Given the description of an element on the screen output the (x, y) to click on. 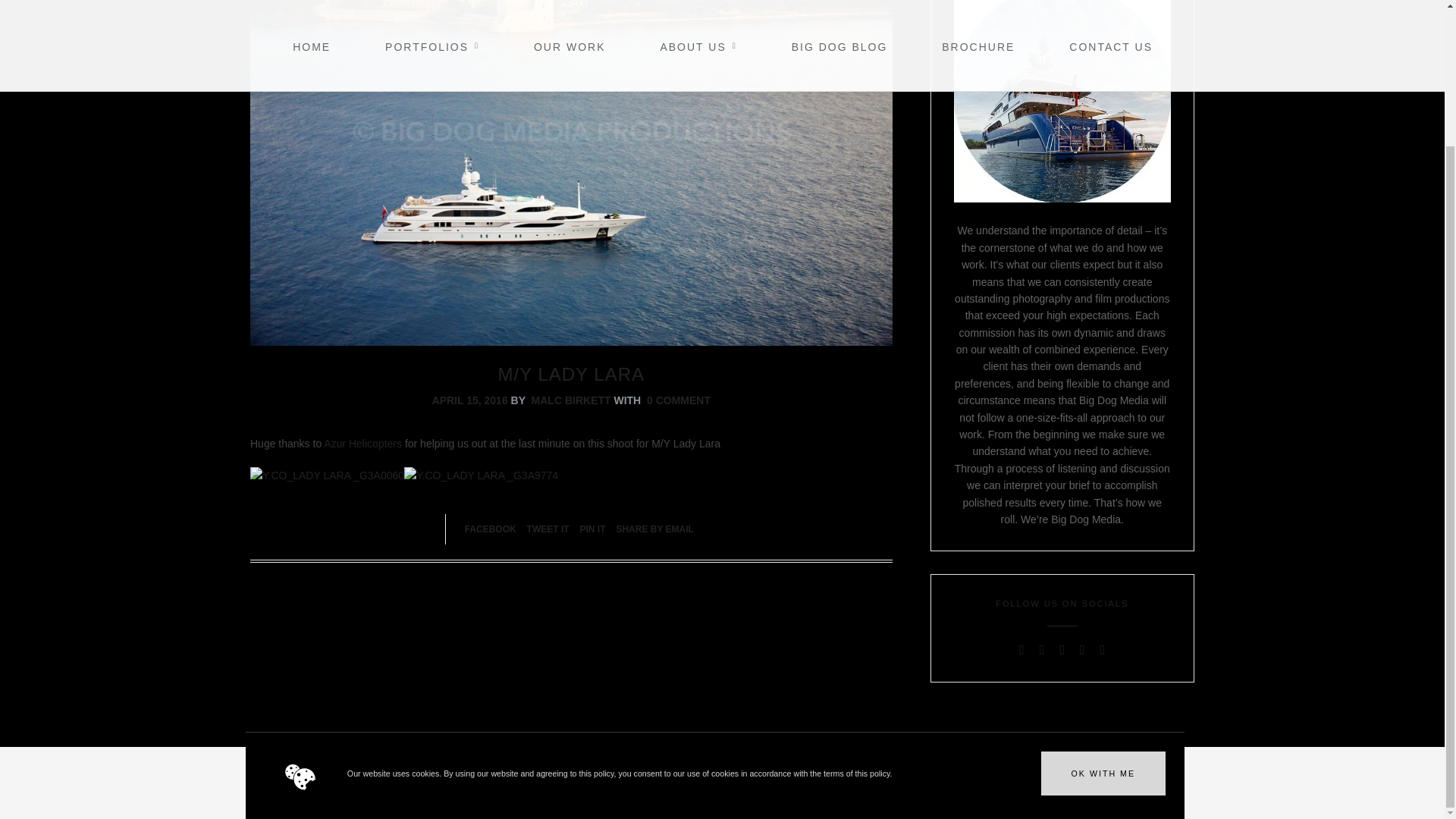
Facebook (490, 529)
APRIL 15, 2016 (470, 399)
Share by Email (654, 529)
Tweet it (548, 529)
OK WITH ME (1103, 606)
Pin it (592, 529)
